Given the description of an element on the screen output the (x, y) to click on. 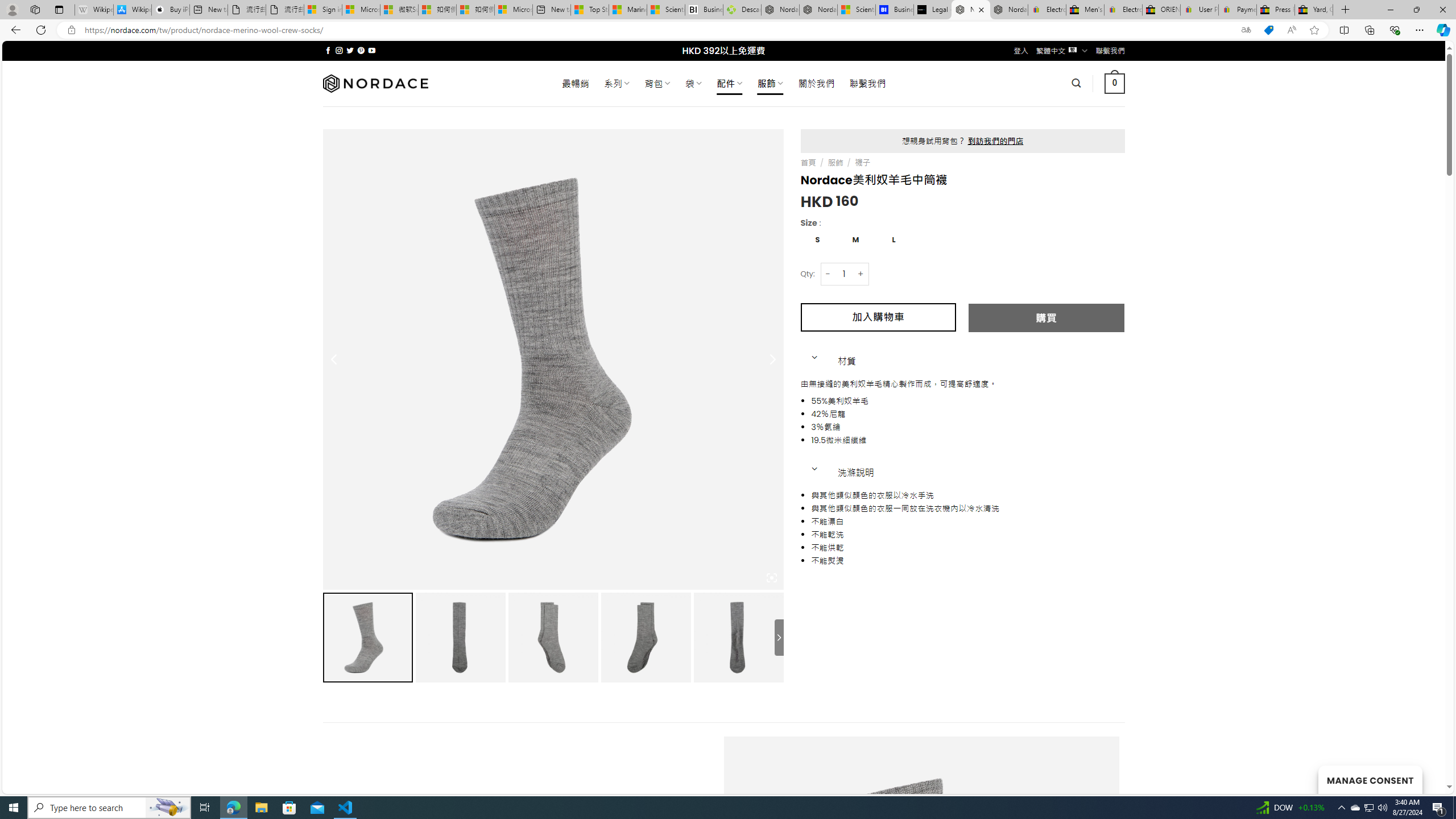
  0   (1115, 83)
Follow on Facebook (327, 50)
